Given the description of an element on the screen output the (x, y) to click on. 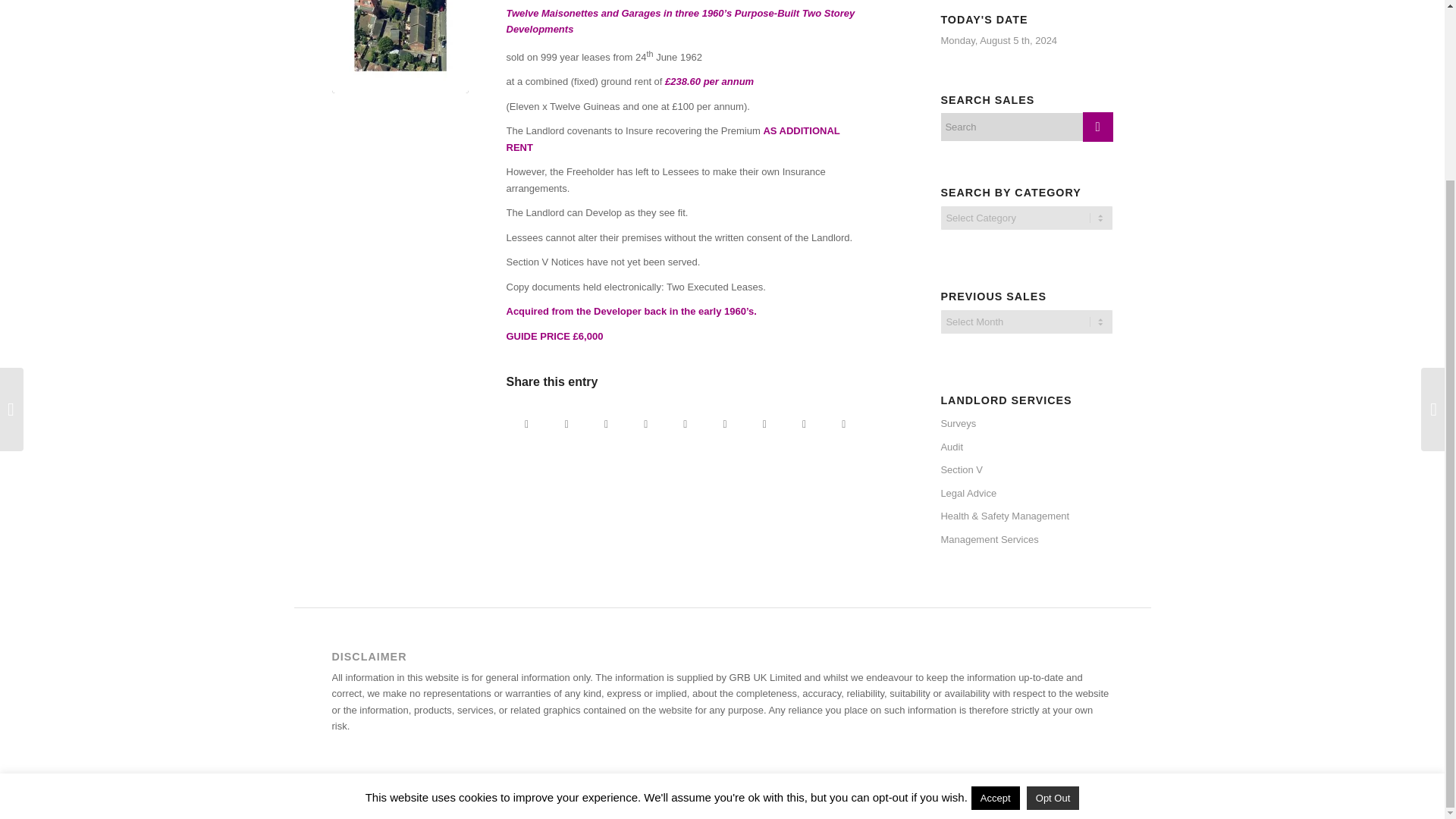
QUADROcreative.com (563, 798)
